Given the description of an element on the screen output the (x, y) to click on. 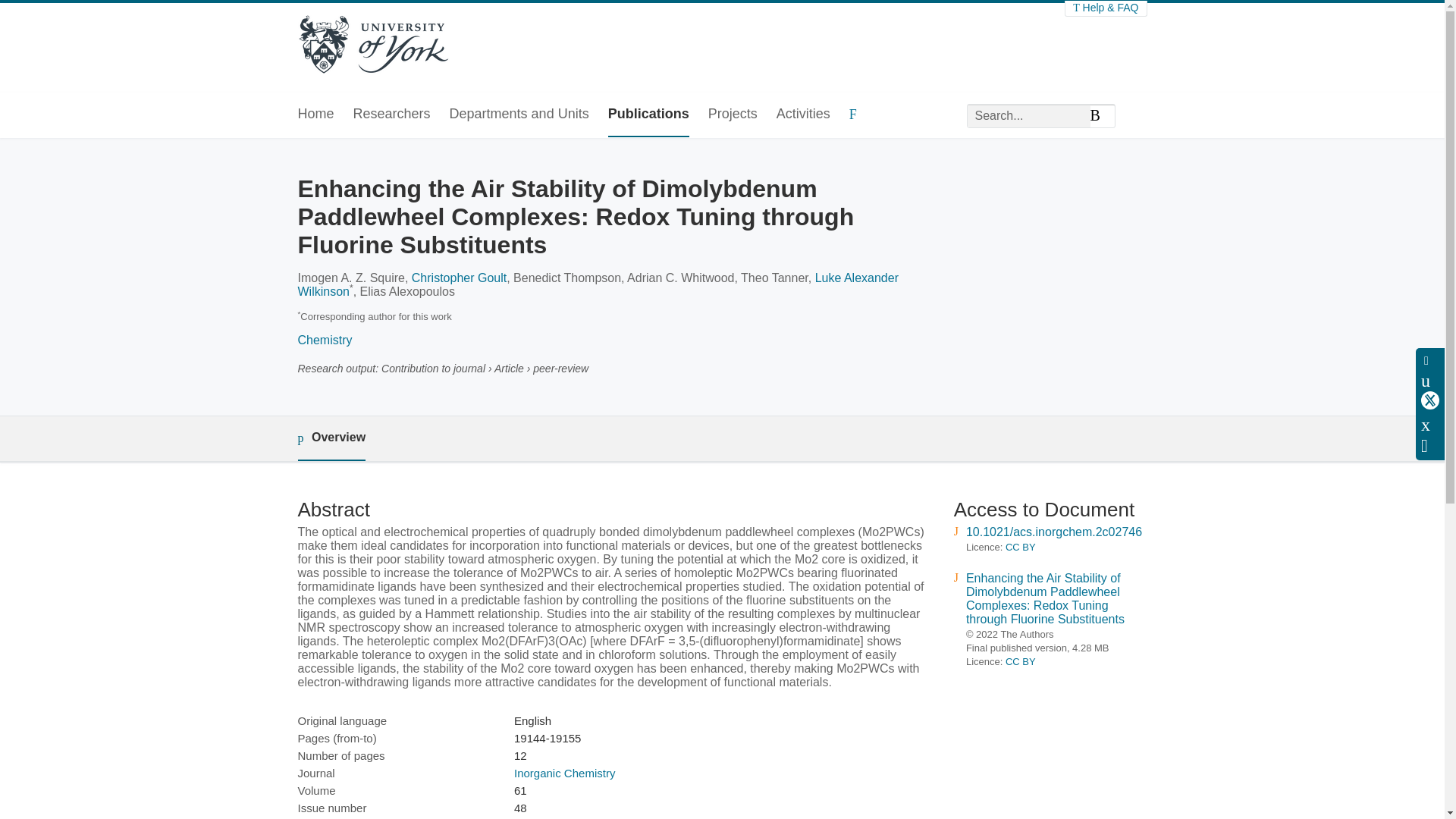
Activities (802, 114)
Inorganic Chemistry (563, 772)
Publications (648, 114)
Projects (732, 114)
CC BY (1020, 546)
Luke Alexander Wilkinson (597, 284)
Researchers (391, 114)
Christopher Goult (459, 277)
CC BY (1020, 661)
